Given the description of an element on the screen output the (x, y) to click on. 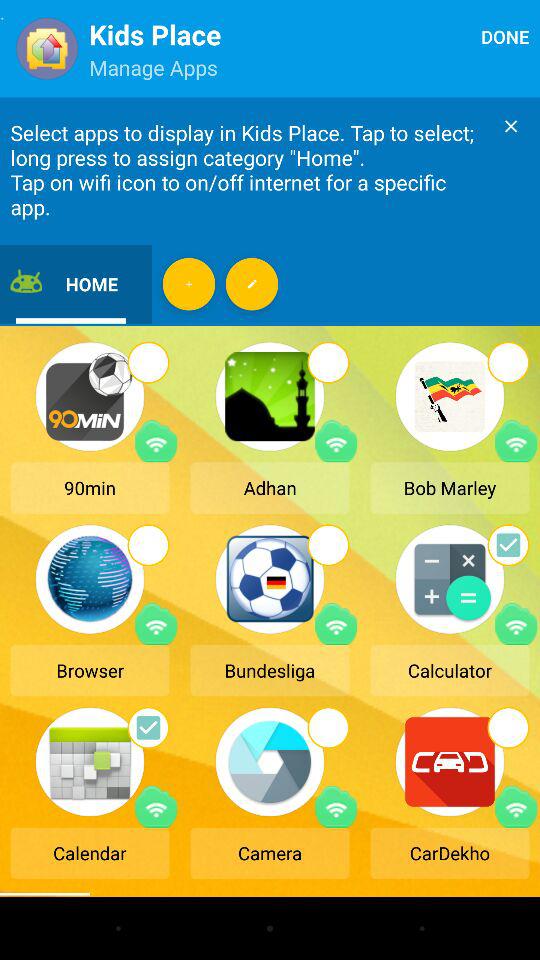
wifi icon on/off (516, 806)
